Given the description of an element on the screen output the (x, y) to click on. 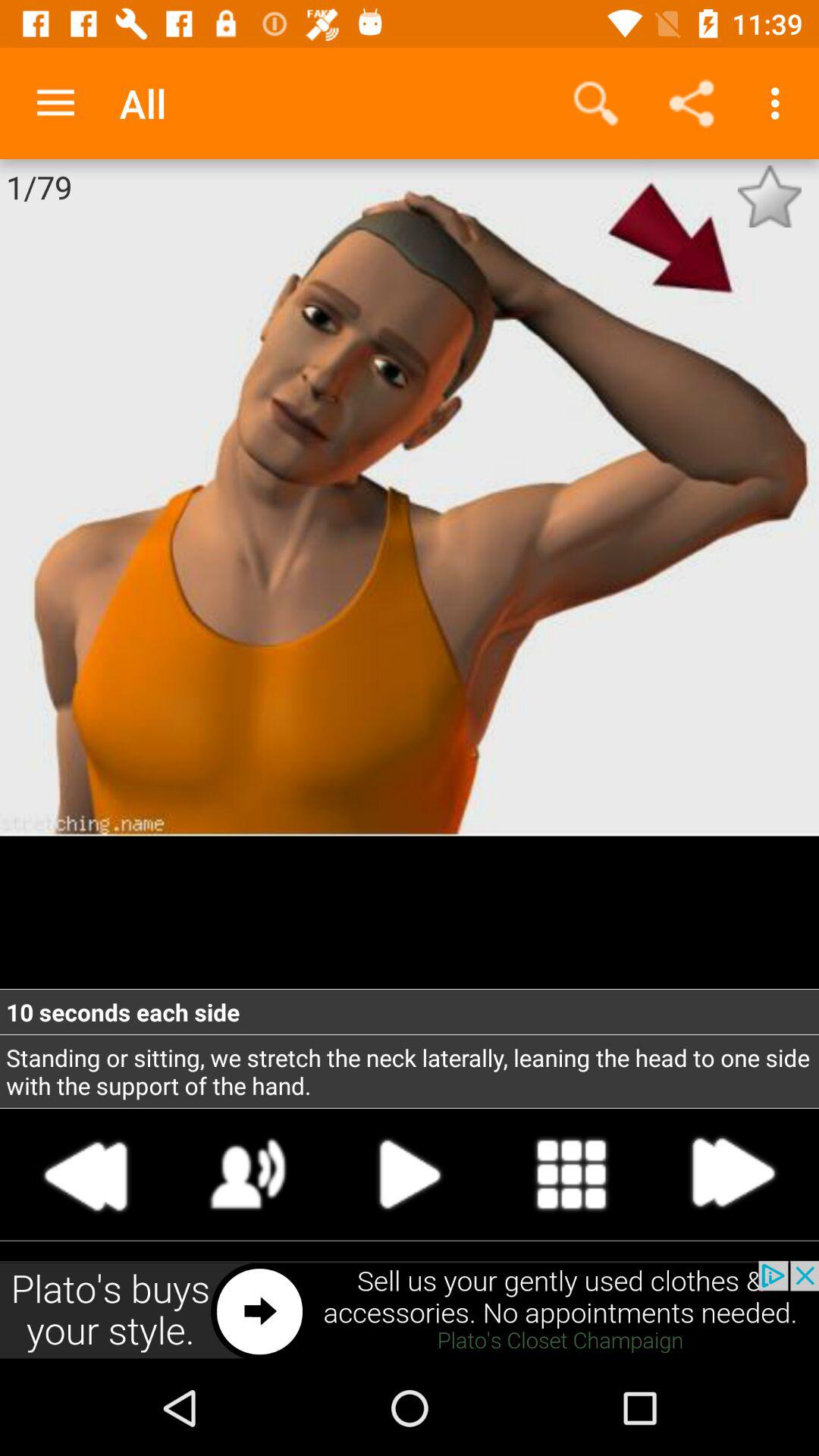
foward moviment (731, 1174)
